Given the description of an element on the screen output the (x, y) to click on. 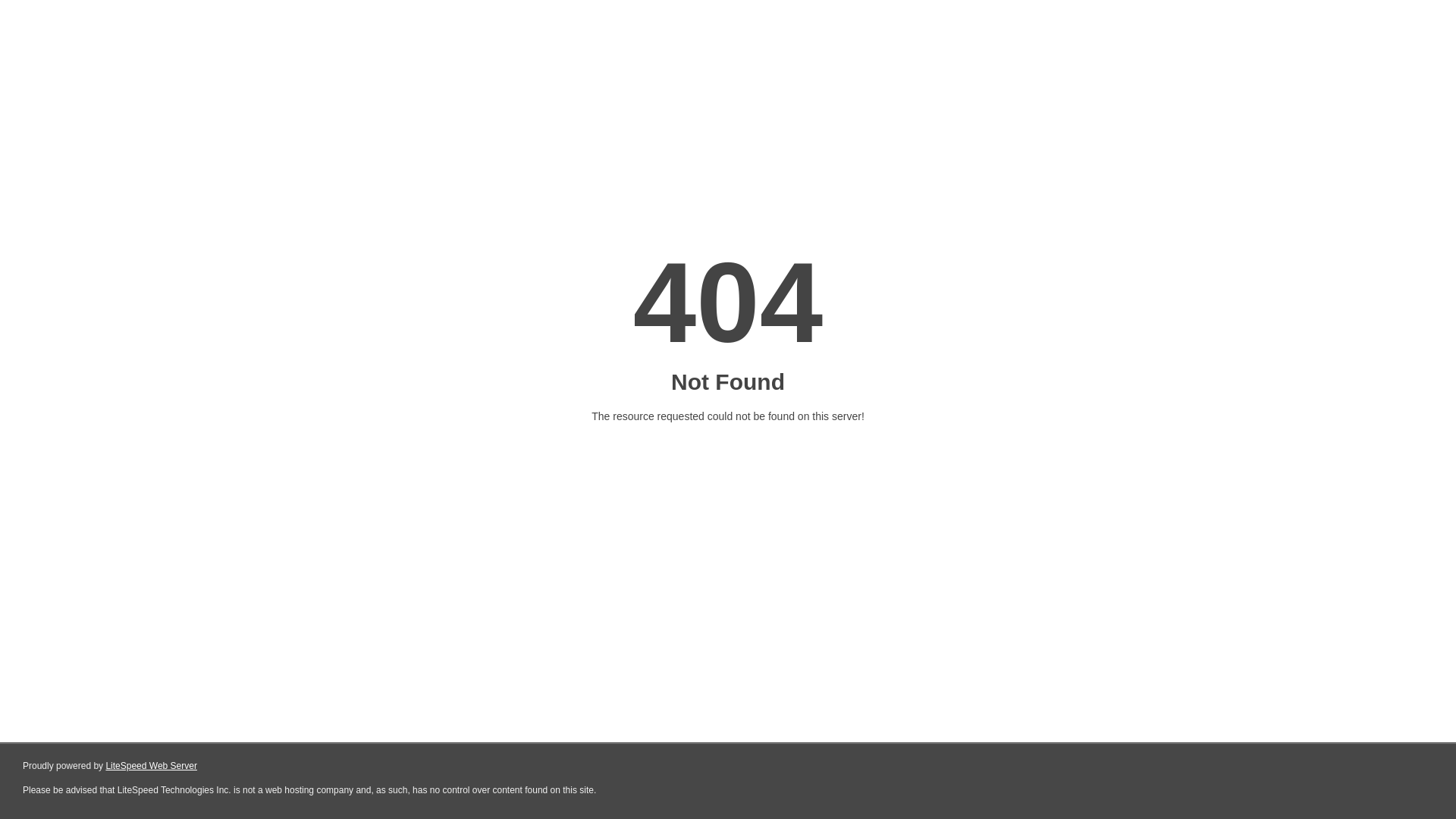
LiteSpeed Web Server Element type: text (151, 765)
